Given the description of an element on the screen output the (x, y) to click on. 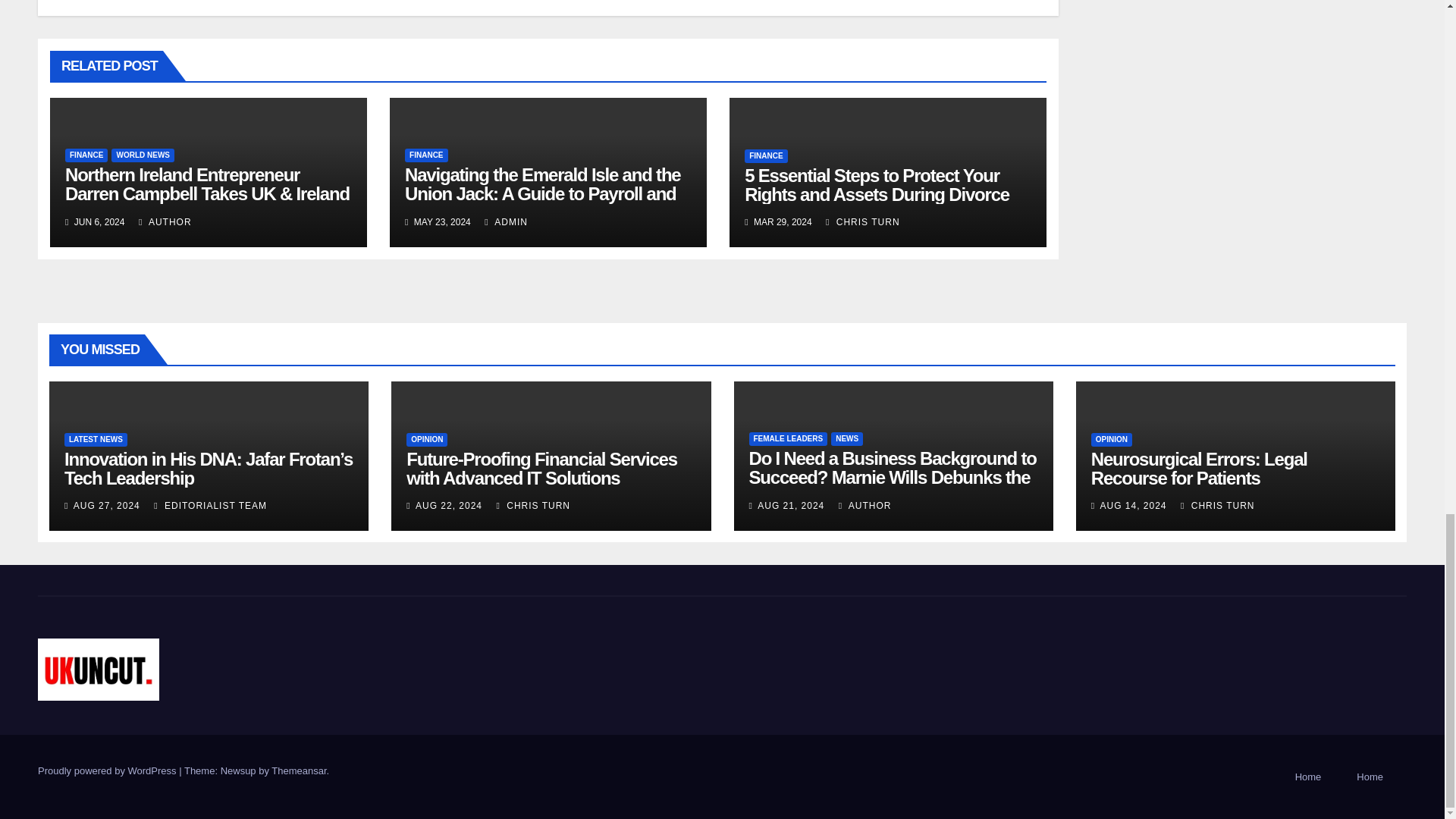
WORLD NEWS (143, 155)
FINANCE (425, 155)
AUTHOR (165, 222)
ADMIN (505, 222)
CHRIS TURN (862, 222)
FINANCE (765, 155)
FINANCE (86, 155)
